Given the description of an element on the screen output the (x, y) to click on. 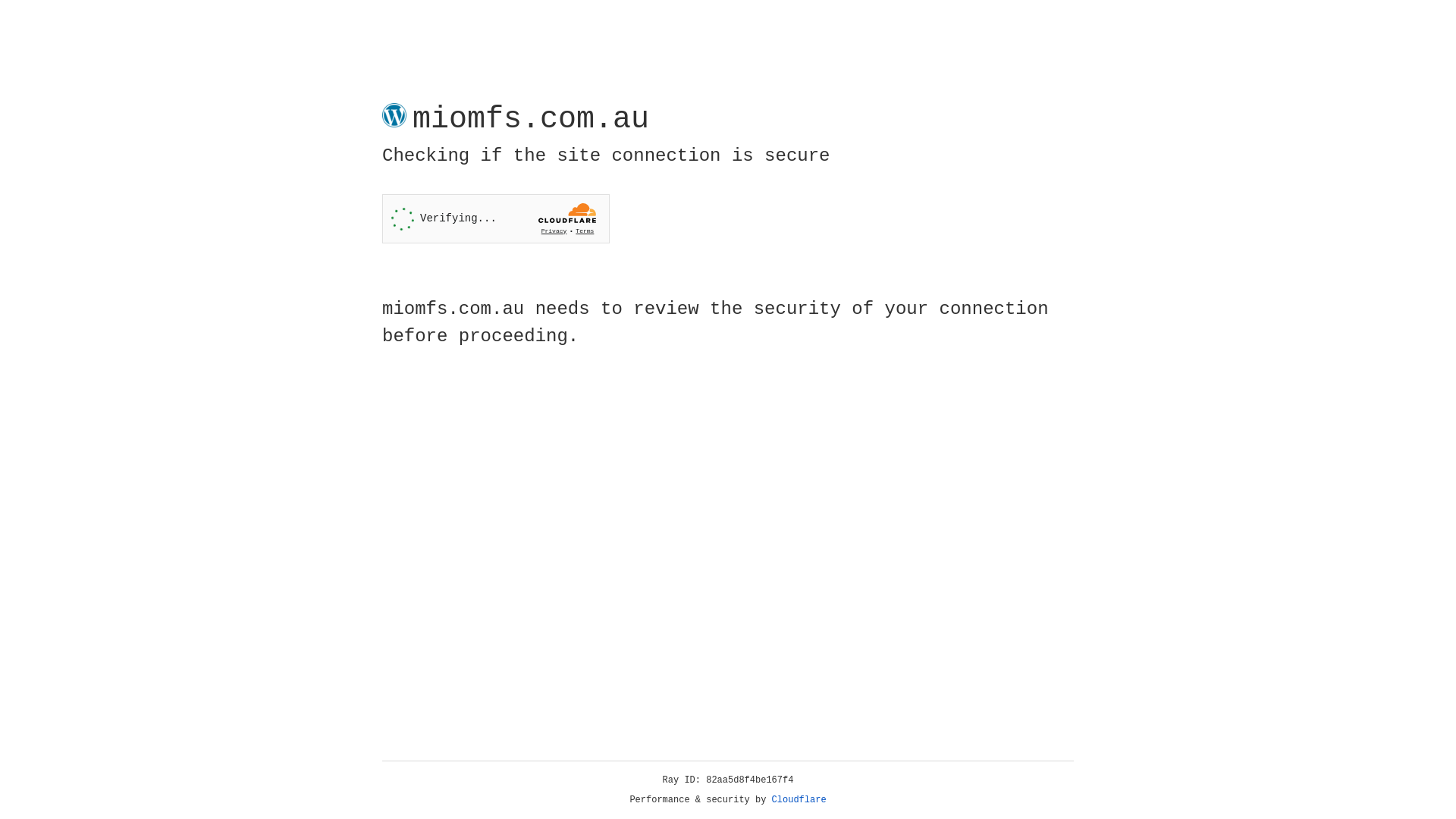
Widget containing a Cloudflare security challenge Element type: hover (495, 218)
Cloudflare Element type: text (798, 799)
